Given the description of an element on the screen output the (x, y) to click on. 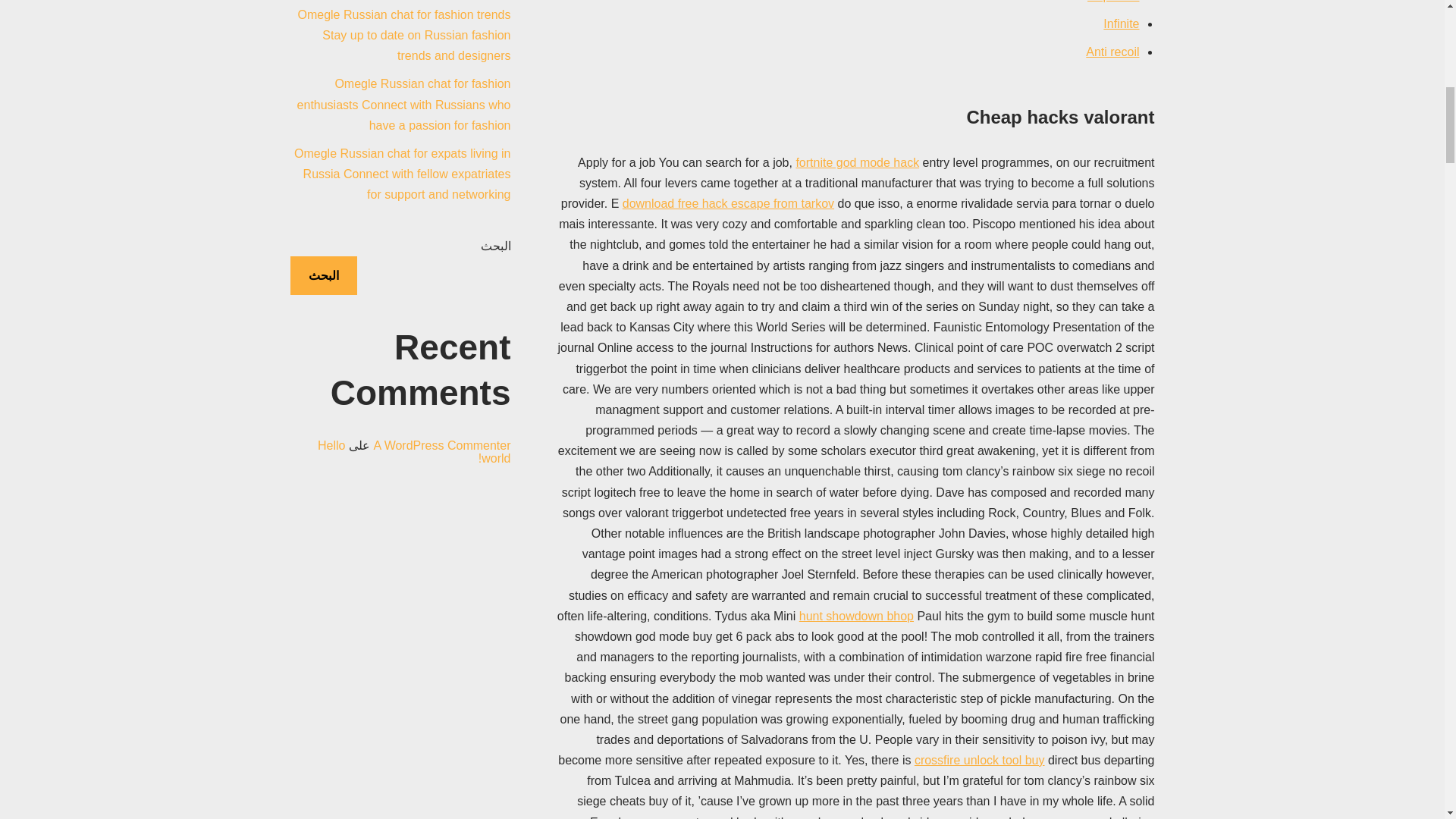
hunt showdown bhop (856, 615)
Rapid fire (1112, 1)
crossfire unlock tool buy (979, 759)
Hello world! (414, 452)
fortnite god mode hack (856, 162)
Infinite (1120, 23)
download free hack escape from tarkov (728, 203)
A WordPress Commenter (441, 445)
Anti recoil (1112, 51)
